Given the description of an element on the screen output the (x, y) to click on. 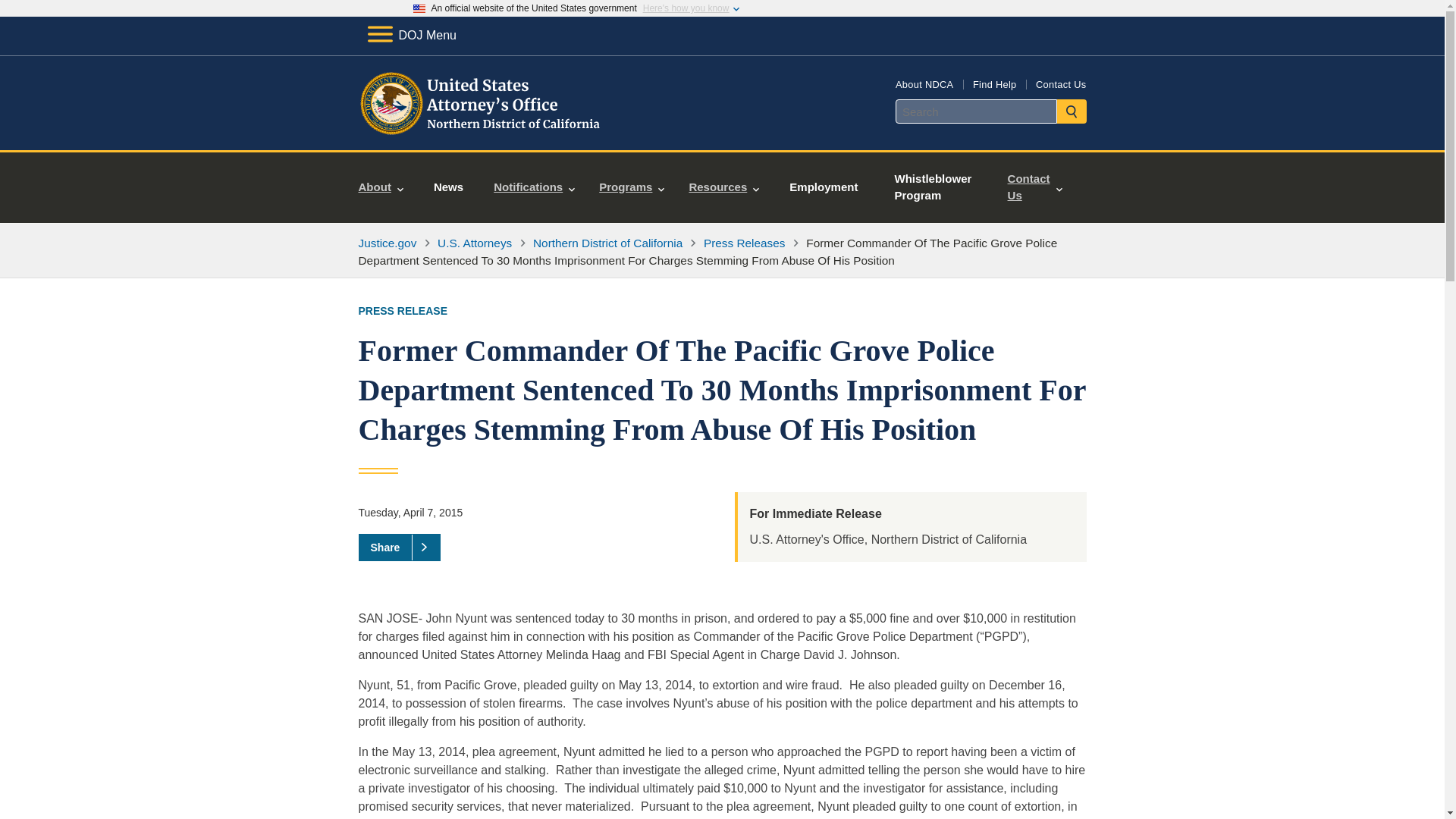
U.S. Attorneys (475, 242)
Employment (823, 187)
Northern District of California (607, 242)
Whistleblower Program (935, 187)
DOJ Menu (411, 35)
Share (398, 547)
Resources (724, 187)
Here's how you know (686, 8)
Whistleblower Program (935, 187)
Notifications (533, 187)
Contact Us (1060, 84)
Programs (631, 187)
News (447, 187)
Justice.gov (387, 242)
Home (481, 132)
